Given the description of an element on the screen output the (x, y) to click on. 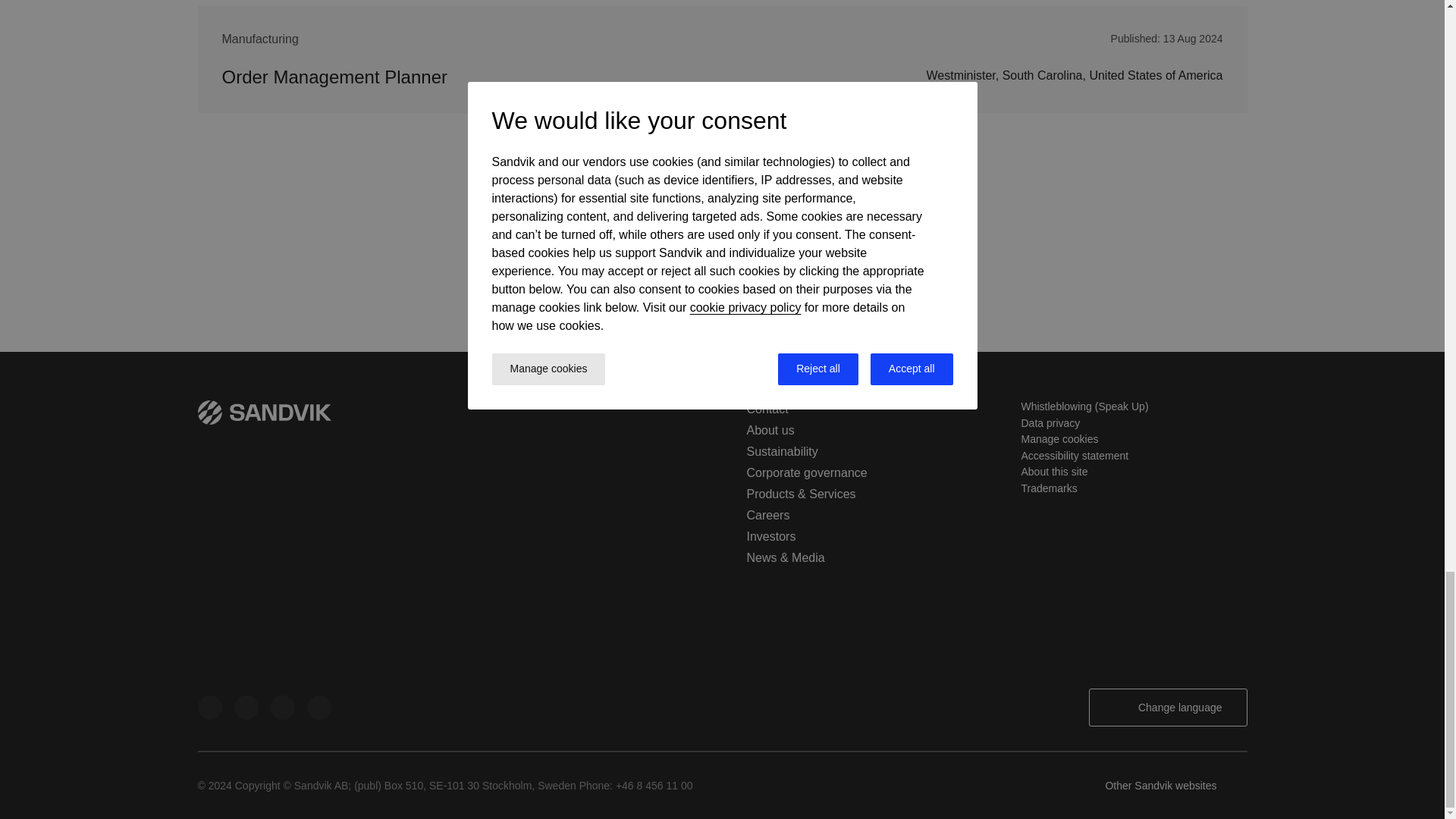
Data privacy (1050, 422)
Trademarks (1048, 488)
Accessibility statement (1074, 455)
Investors (769, 535)
Careers (767, 514)
Corporate governance (805, 472)
About this site (1053, 471)
Load more (721, 239)
About us (769, 430)
Contact (766, 408)
